Given the description of an element on the screen output the (x, y) to click on. 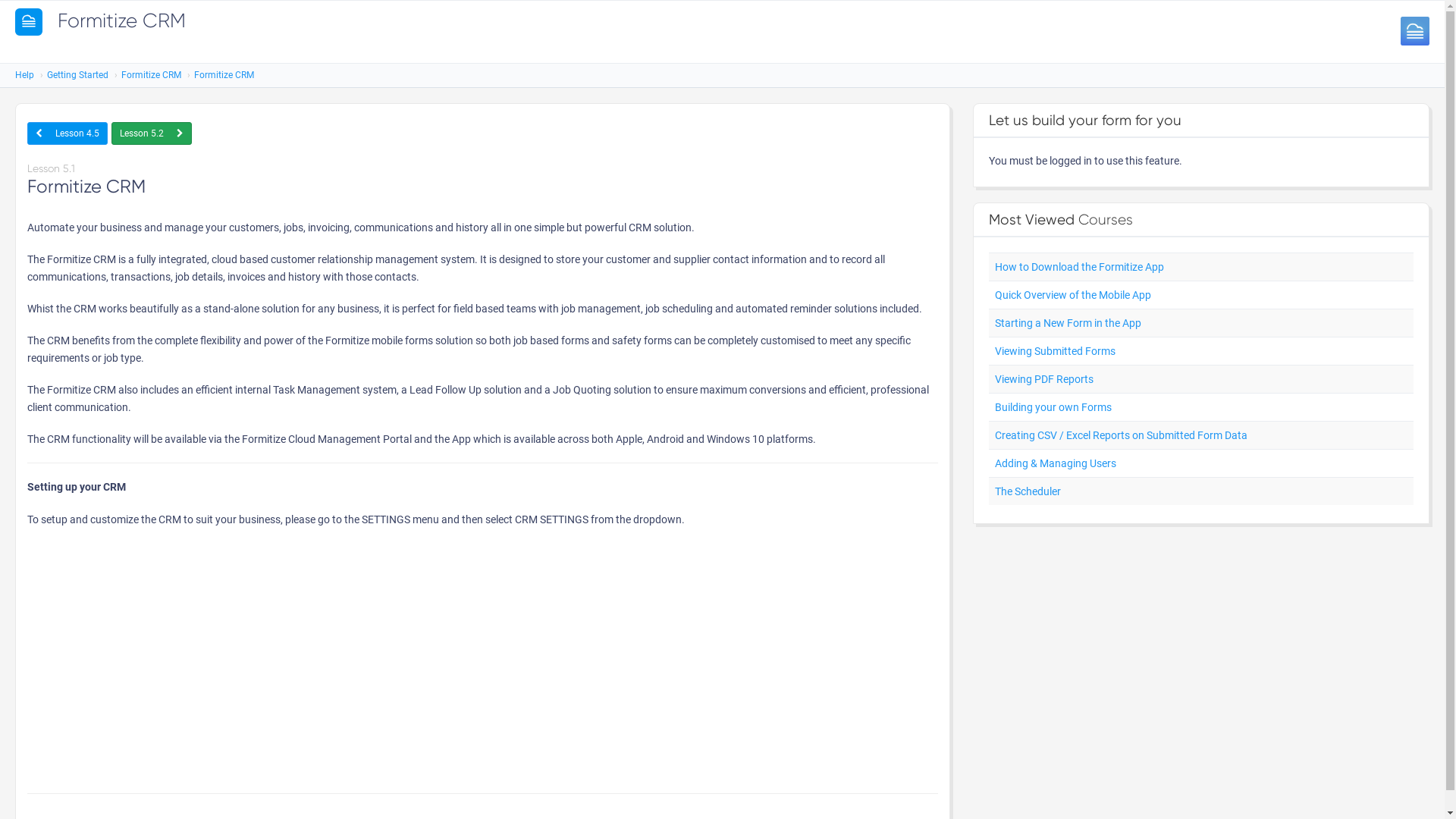
Formitize CRM Element type: text (224, 74)
Getting Started Element type: text (77, 74)
The Scheduler Element type: text (1027, 491)
Viewing PDF Reports Element type: text (1043, 379)
Adding & Managing Users Element type: text (1055, 463)
Quick Overview of the Mobile App Element type: text (1072, 294)
Creating CSV / Excel Reports on Submitted Form Data Element type: text (1120, 435)
How to Download the Formitize App Element type: text (1079, 266)
Lesson 4.5 Element type: text (67, 133)
Starting a New Form in the App Element type: text (1067, 322)
Viewing Submitted Forms Element type: text (1054, 351)
Formitize CRM Element type: text (151, 74)
Help Element type: text (24, 74)
Lesson 5.2 Element type: text (151, 133)
Building your own Forms Element type: text (1052, 407)
